Given the description of an element on the screen output the (x, y) to click on. 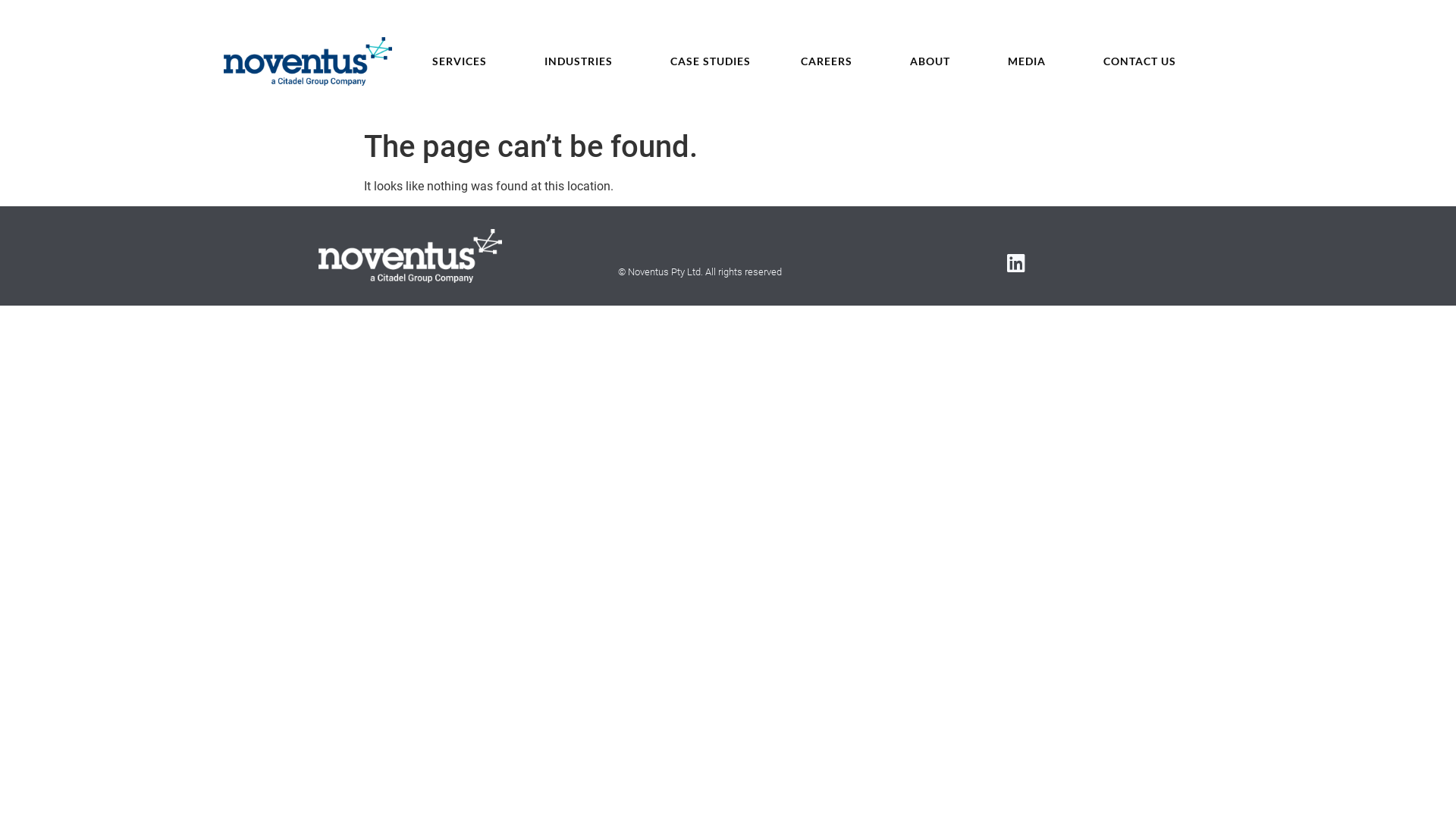
MEDIA Element type: text (1030, 61)
ABOUT Element type: text (933, 61)
CAREERS Element type: text (829, 61)
INDUSTRIES Element type: text (582, 61)
CONTACT US Element type: text (1139, 61)
CASE STUDIES Element type: text (710, 61)
SERVICES Element type: text (463, 61)
